Given the description of an element on the screen output the (x, y) to click on. 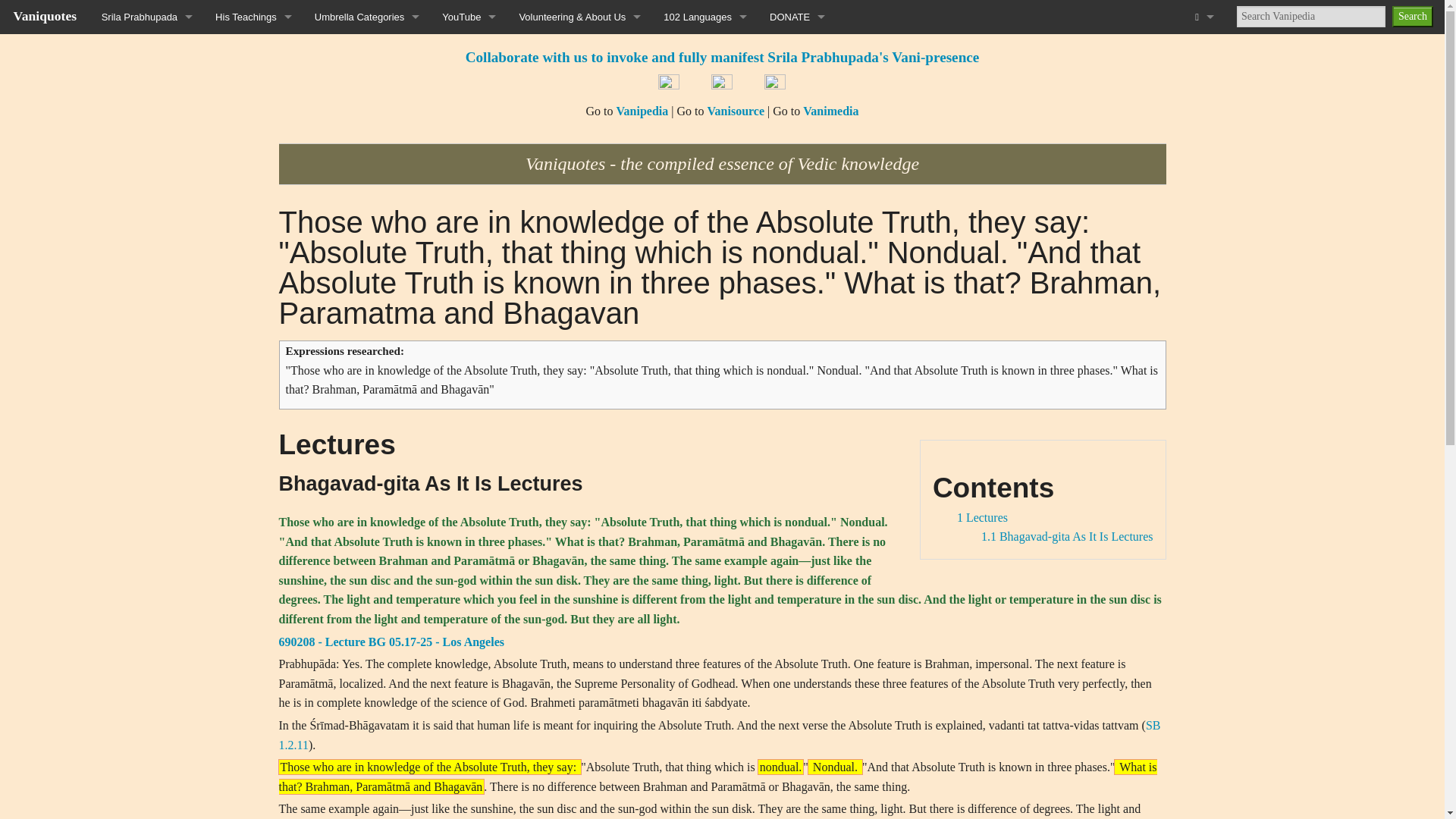
vanipedia:Main Page (641, 110)
Vaniquotes (44, 15)
vanimedia:Main Page (831, 110)
vanisource:Main Page (735, 110)
Srila Prabhupada (146, 17)
vanisource:690208 - Lecture BG 05.17-25 - Los Angeles (391, 641)
Search (1411, 16)
